Given the description of an element on the screen output the (x, y) to click on. 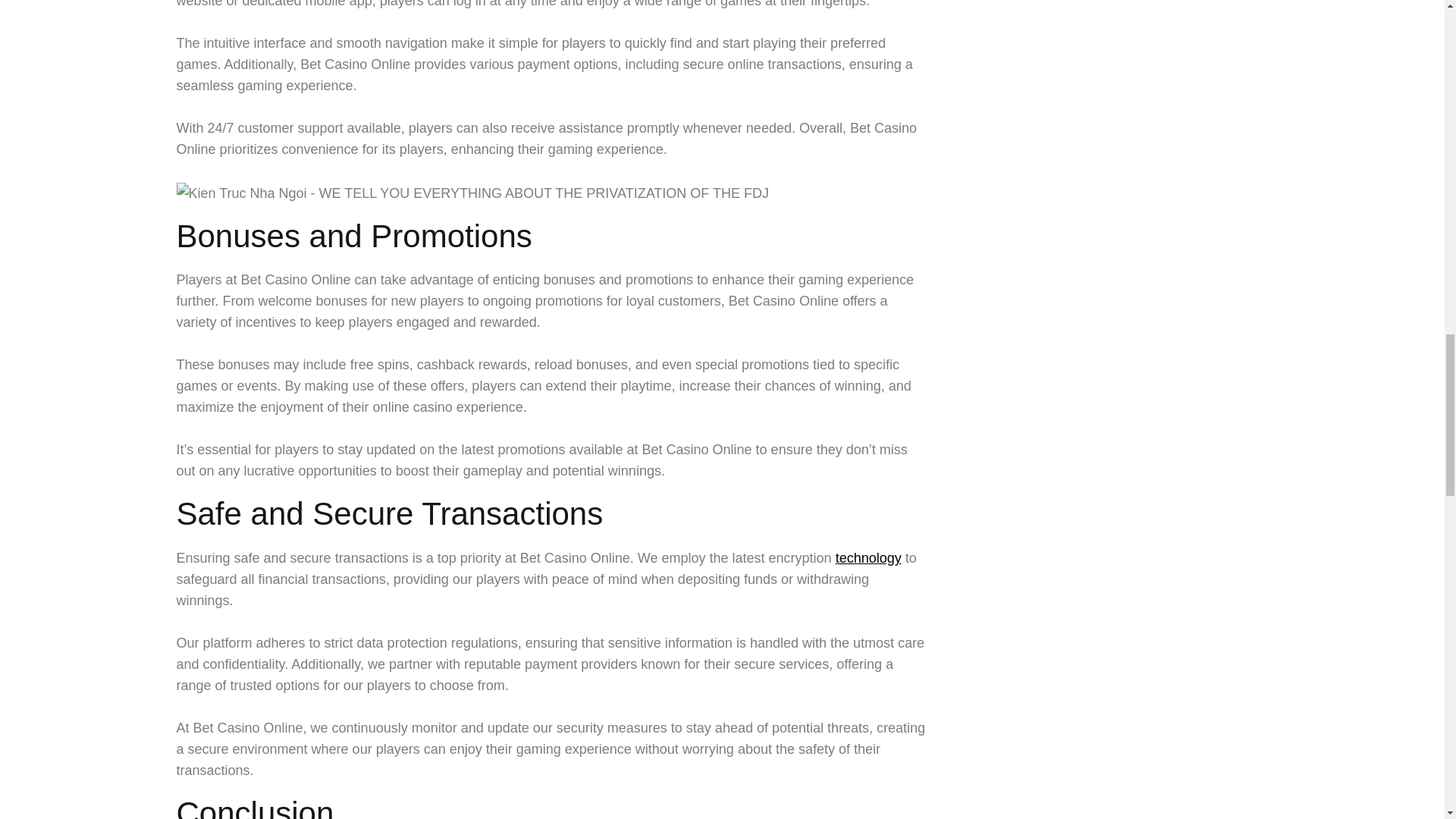
technology (868, 557)
